Given the description of an element on the screen output the (x, y) to click on. 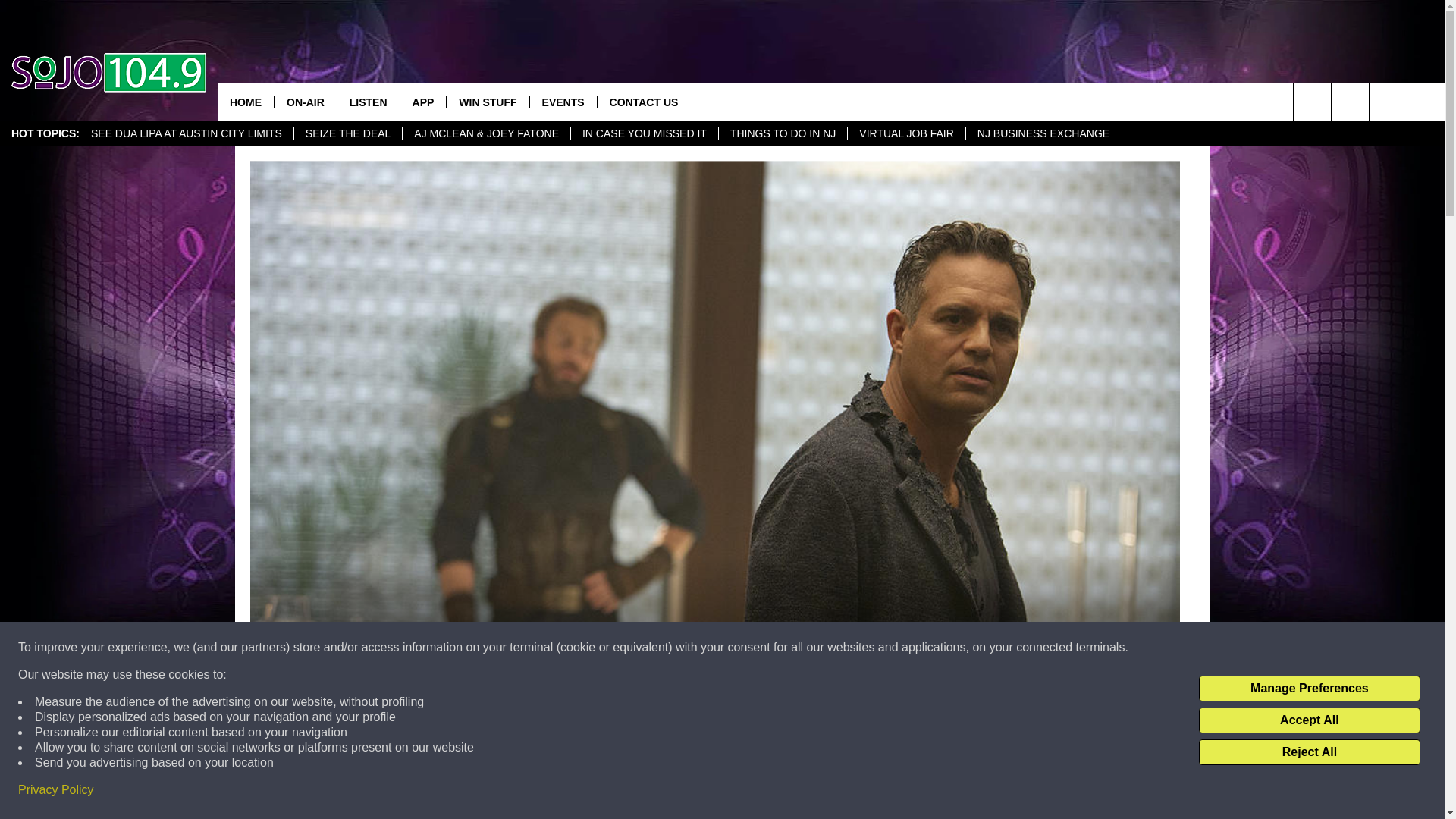
Accept All (1309, 720)
Share on Twitter (912, 791)
Privacy Policy (55, 789)
SEIZE THE DEAL (348, 133)
Reject All (1309, 751)
NJ BUSINESS EXCHANGE (1043, 133)
SEE DUA LIPA AT AUSTIN CITY LIMITS (187, 133)
ON-AIR (304, 102)
Manage Preferences (1309, 688)
IN CASE YOU MISSED IT (643, 133)
WIN STUFF (486, 102)
HOME (244, 102)
VIRTUAL JOB FAIR (905, 133)
Share on Facebook (517, 791)
APP (422, 102)
